Given the description of an element on the screen output the (x, y) to click on. 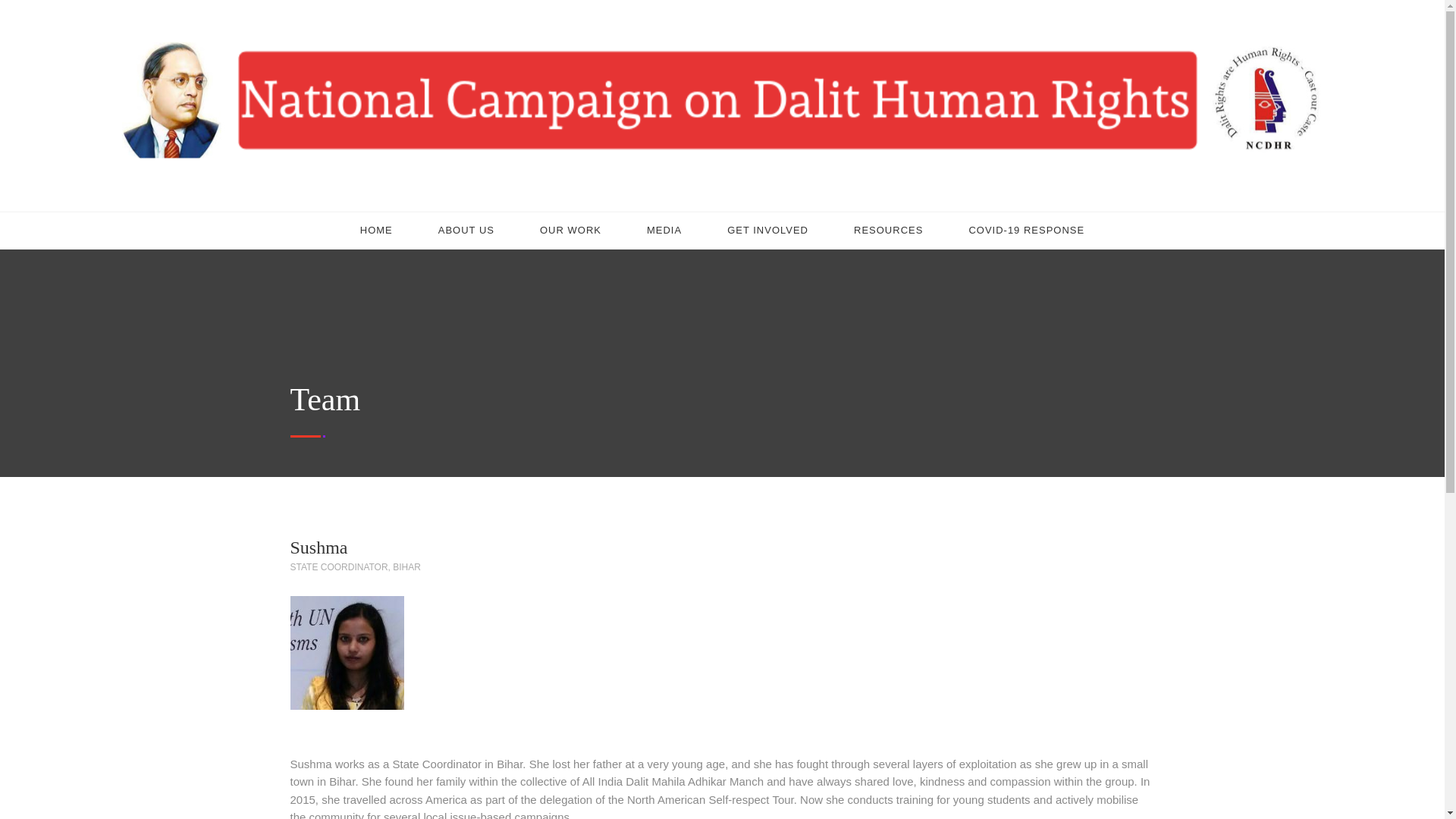
GET INVOLVED (767, 230)
OUR WORK (570, 230)
RESOURCES (888, 230)
MEDIA (663, 230)
ABOUT US (466, 230)
COVID-19 RESPONSE (1026, 230)
